Given the description of an element on the screen output the (x, y) to click on. 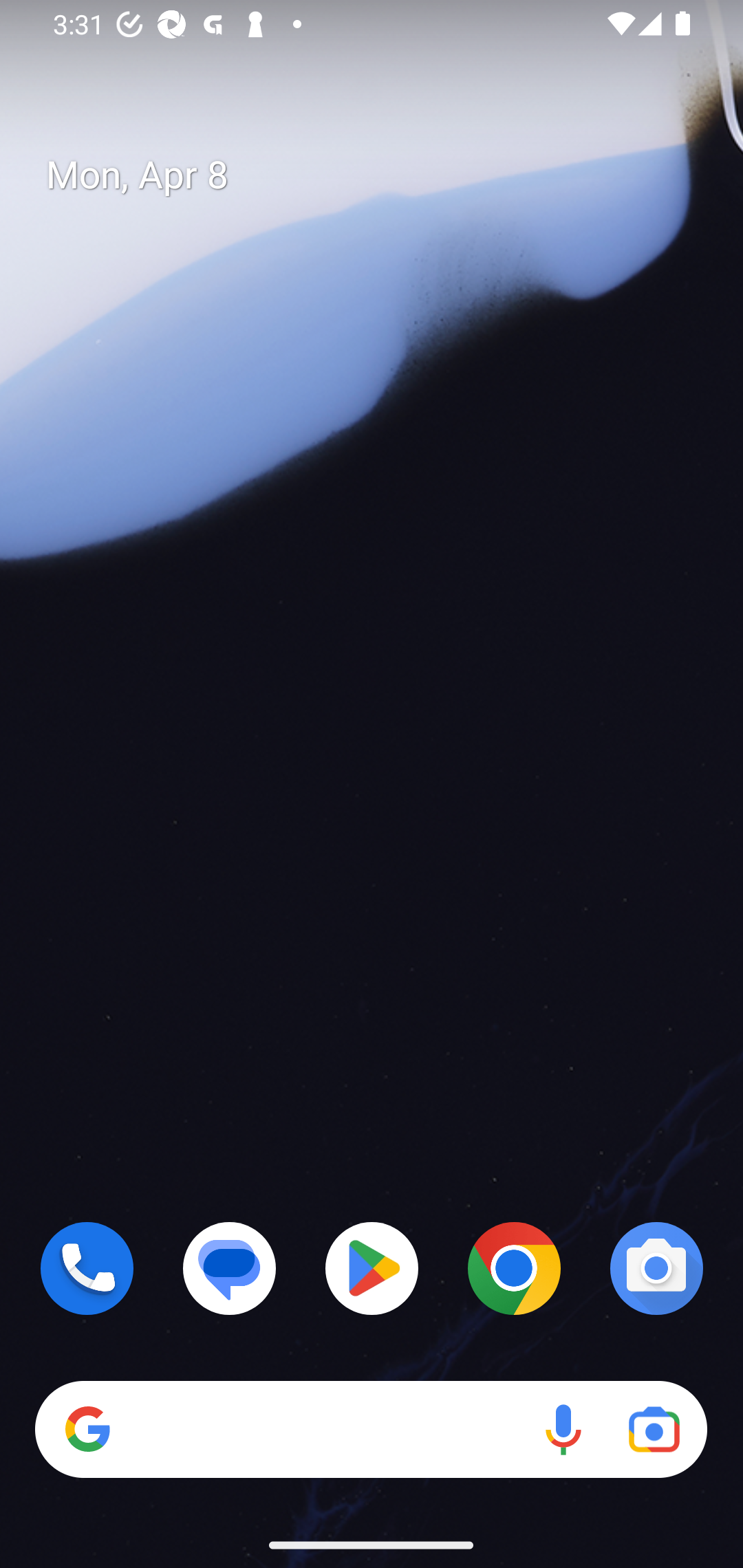
Mon, Apr 8 (386, 175)
Phone (86, 1268)
Messages (229, 1268)
Play Store (371, 1268)
Chrome (513, 1268)
Camera (656, 1268)
Search Voice search Google Lens (370, 1429)
Voice search (562, 1429)
Google Lens (653, 1429)
